Given the description of an element on the screen output the (x, y) to click on. 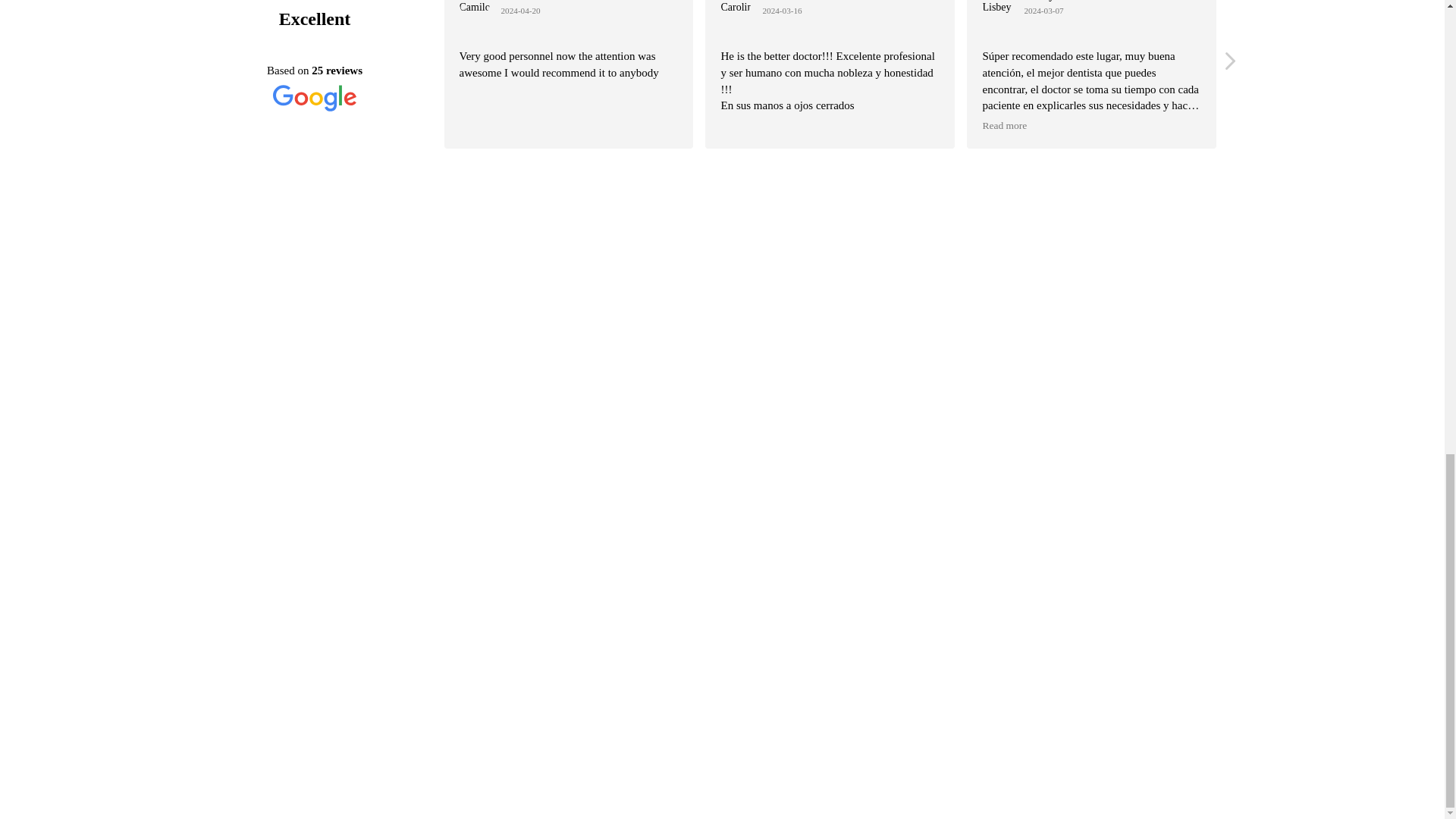
Send (967, 662)
